Given the description of an element on the screen output the (x, y) to click on. 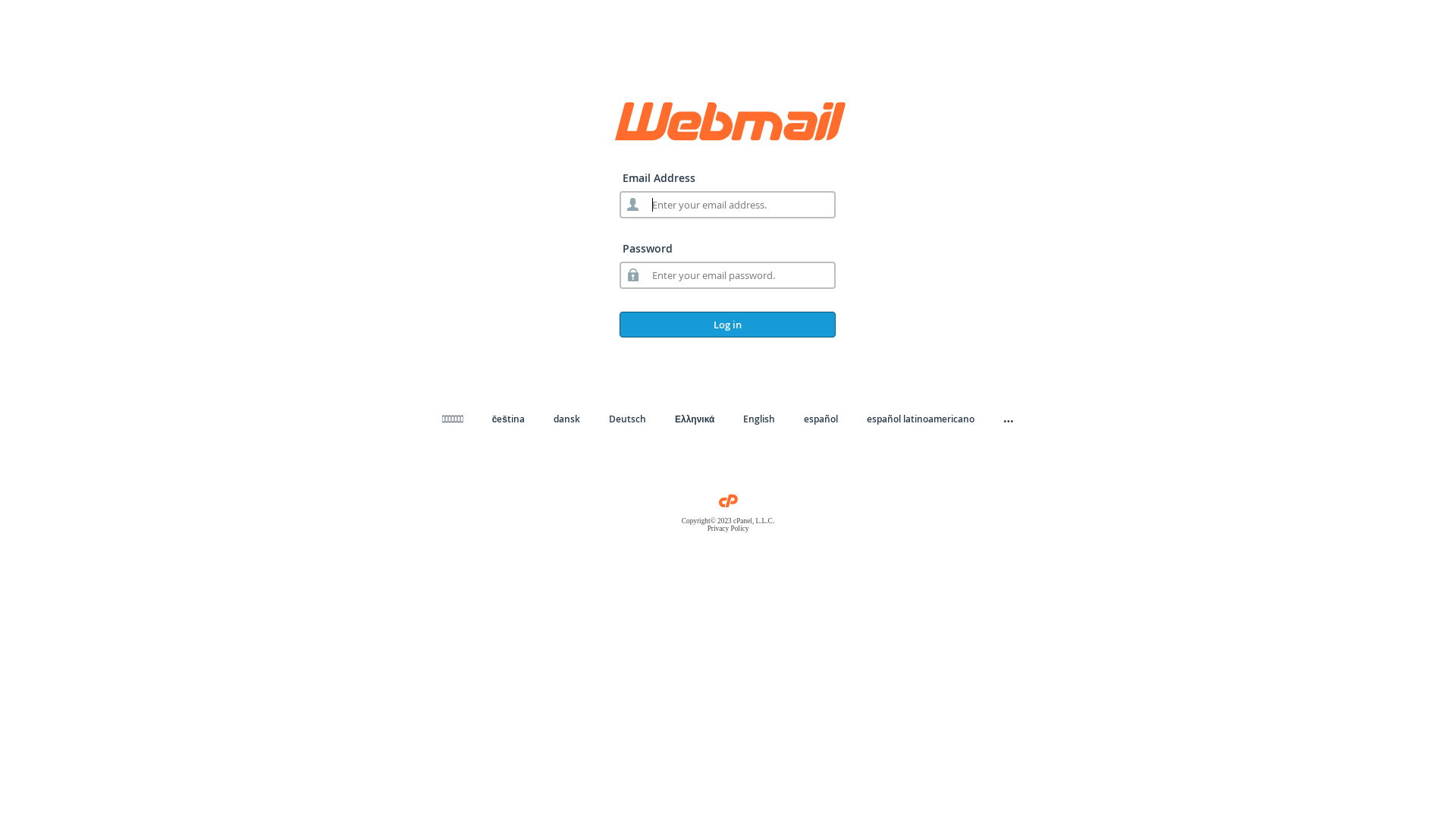
Enter Here Element type: text (896, 224)
Enter Here Element type: text (558, 224)
